Given the description of an element on the screen output the (x, y) to click on. 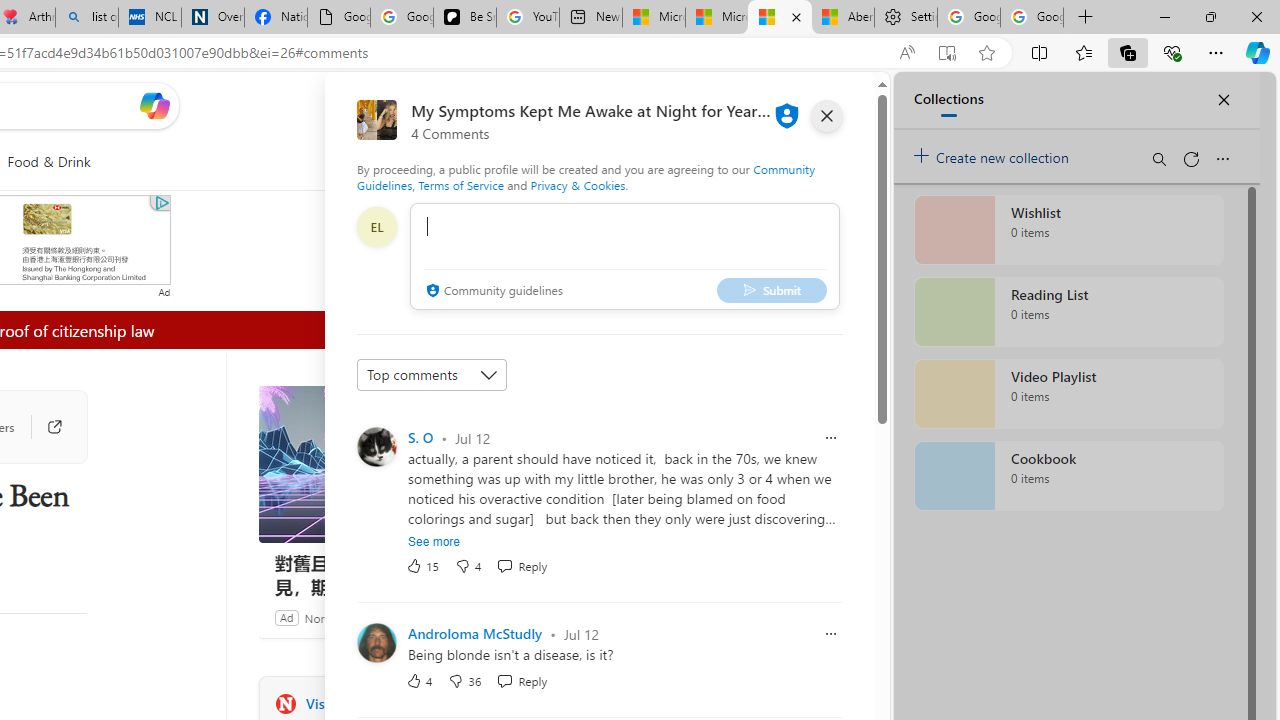
Reply Reply Comment (521, 680)
Go to publisher's site (44, 426)
